Given the description of an element on the screen output the (x, y) to click on. 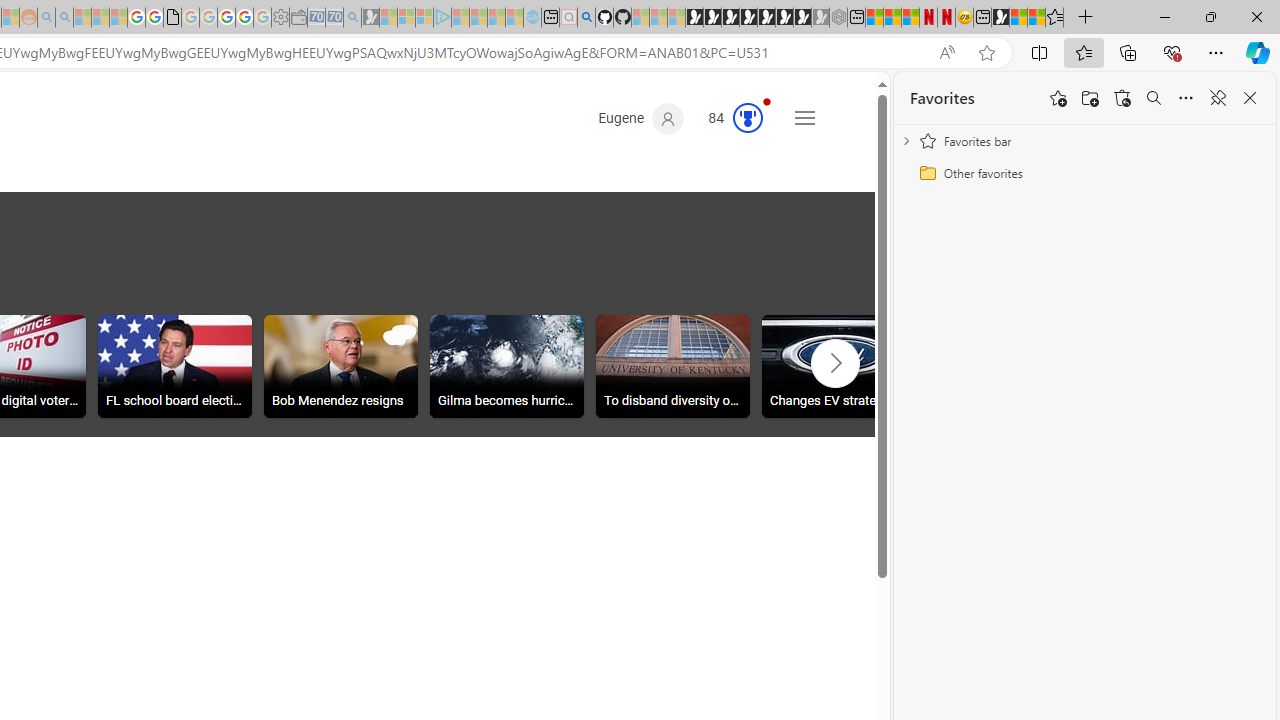
Unpin favorites (1217, 98)
Animation (766, 101)
FL school board elections (175, 365)
FL school board elections (175, 369)
github - Search (586, 17)
